Given the description of an element on the screen output the (x, y) to click on. 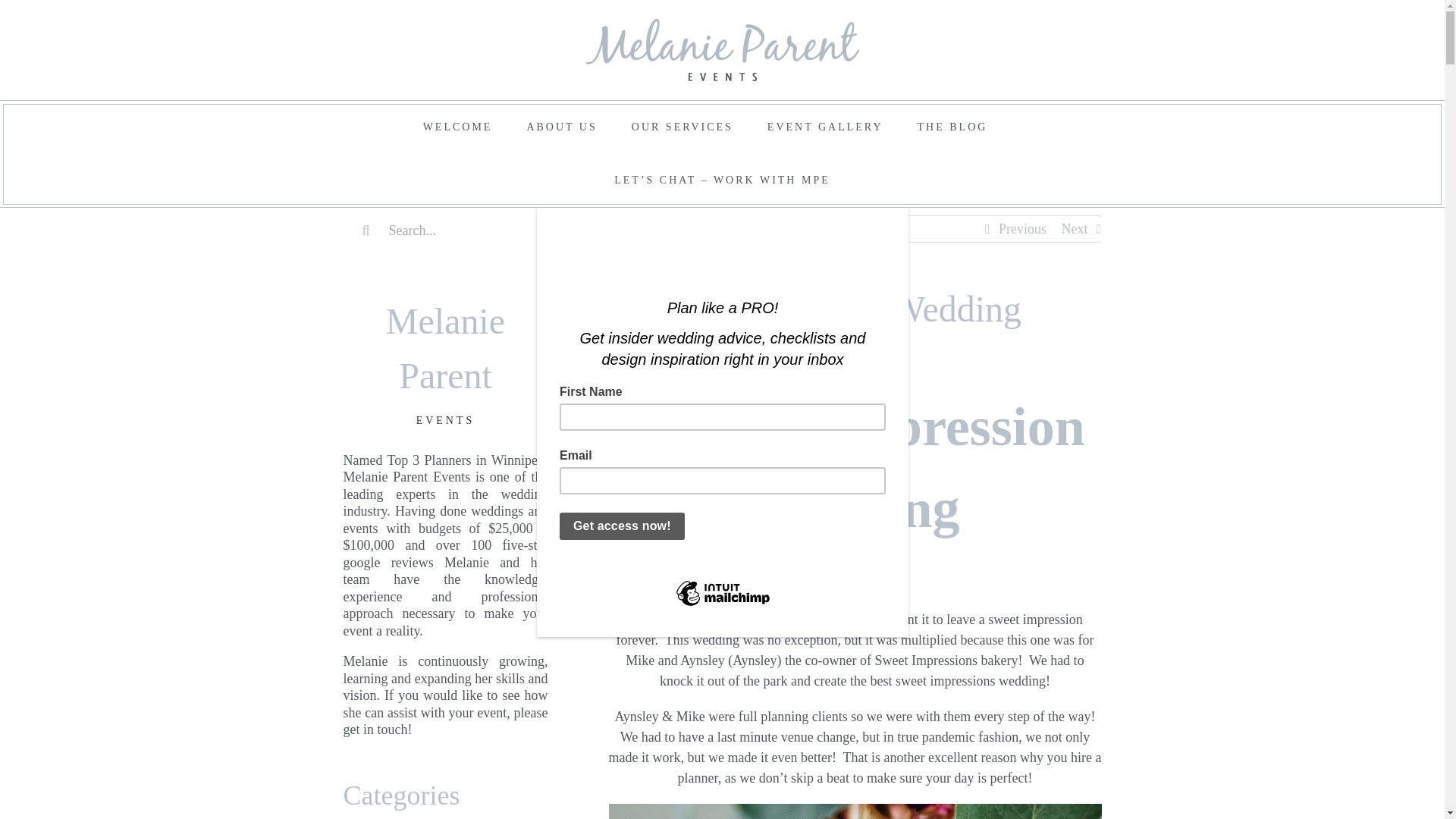
Previous (1022, 228)
Pin It (629, 367)
Next (1074, 228)
WELCOME (458, 126)
OUR SERVICES (682, 126)
THE BLOG (952, 126)
ABOUT US (560, 126)
EVENT GALLERY (825, 126)
